Given the description of an element on the screen output the (x, y) to click on. 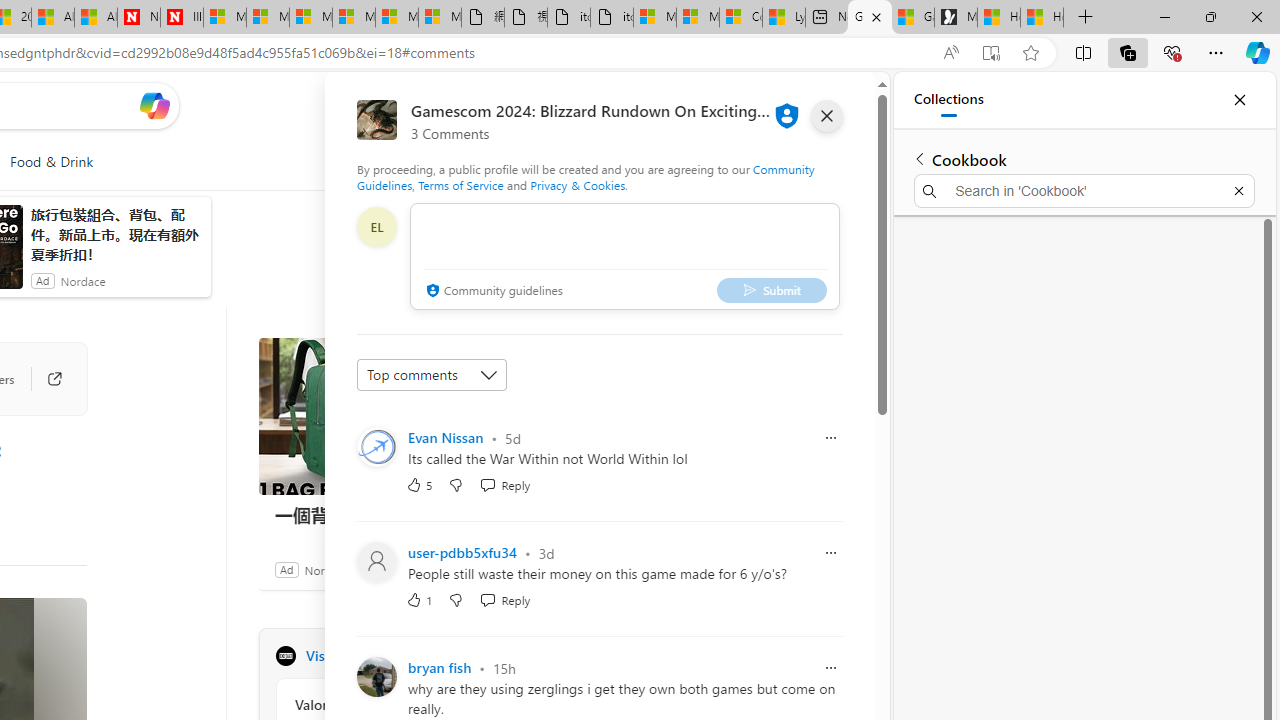
Open settings (830, 105)
How to Use a TV as a Computer Monitor (1042, 17)
Go to publisher's site (44, 378)
CGMagazine (285, 655)
Notifications (790, 105)
itconcepthk.com/projector_solutions.mp4 (612, 17)
